Given the description of an element on the screen output the (x, y) to click on. 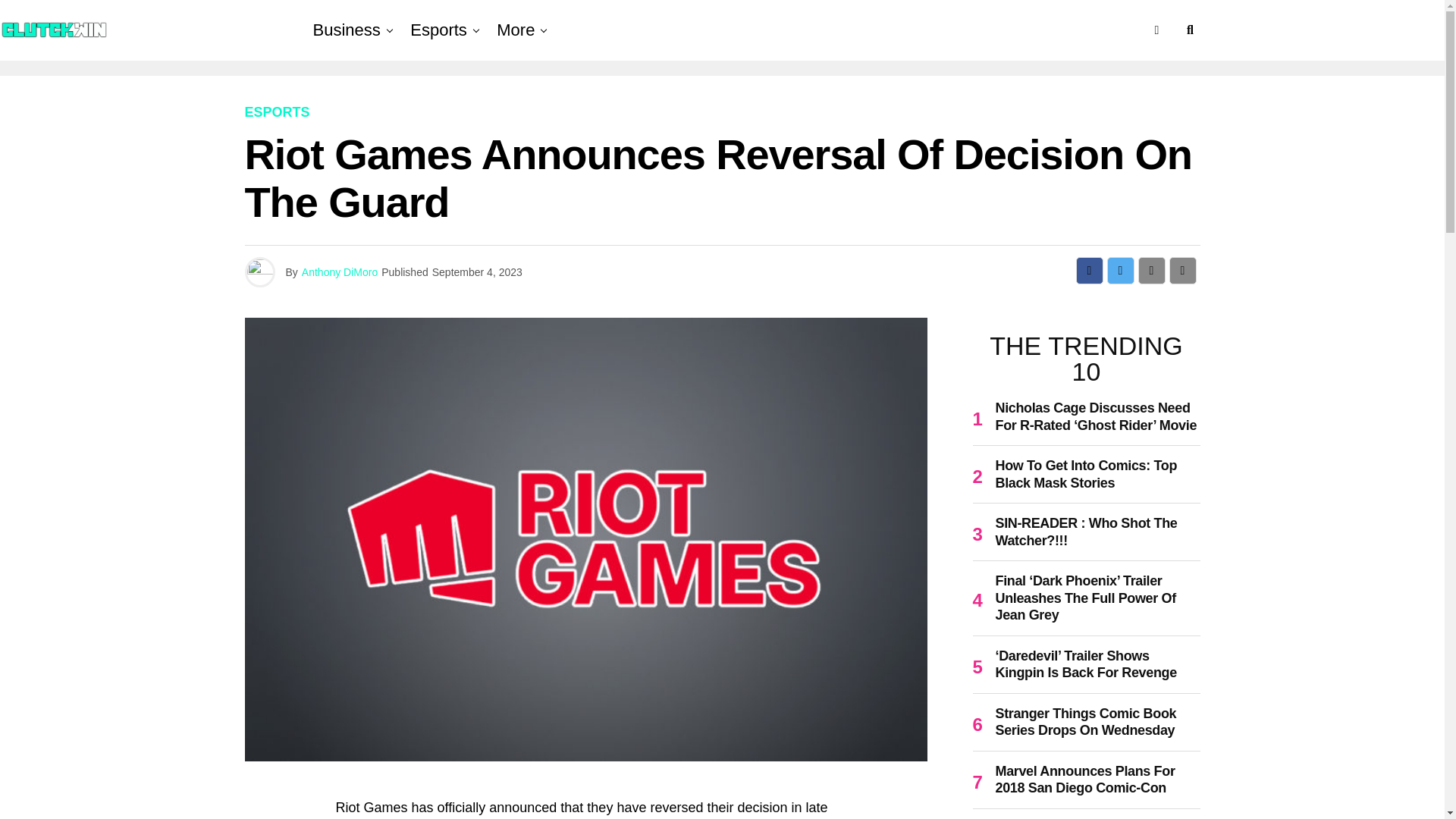
Tweet This Post (1120, 270)
Esports (438, 30)
Share on Facebook (1088, 270)
Business (350, 30)
Posts by Anthony DiMoro (339, 272)
